Given the description of an element on the screen output the (x, y) to click on. 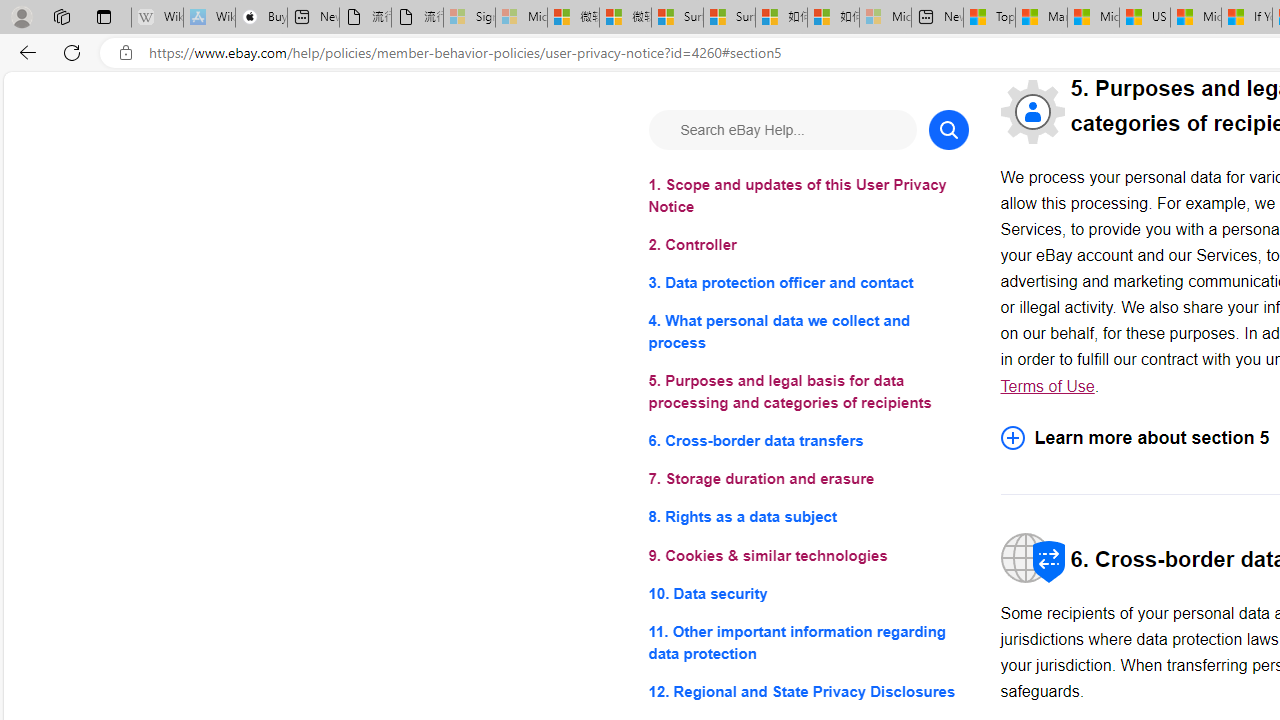
10. Data security (807, 592)
12. Regional and State Privacy Disclosures (807, 690)
Search eBay Help... (781, 129)
11. Other important information regarding data protection (807, 642)
3. Data protection officer and contact (807, 283)
